Given the description of an element on the screen output the (x, y) to click on. 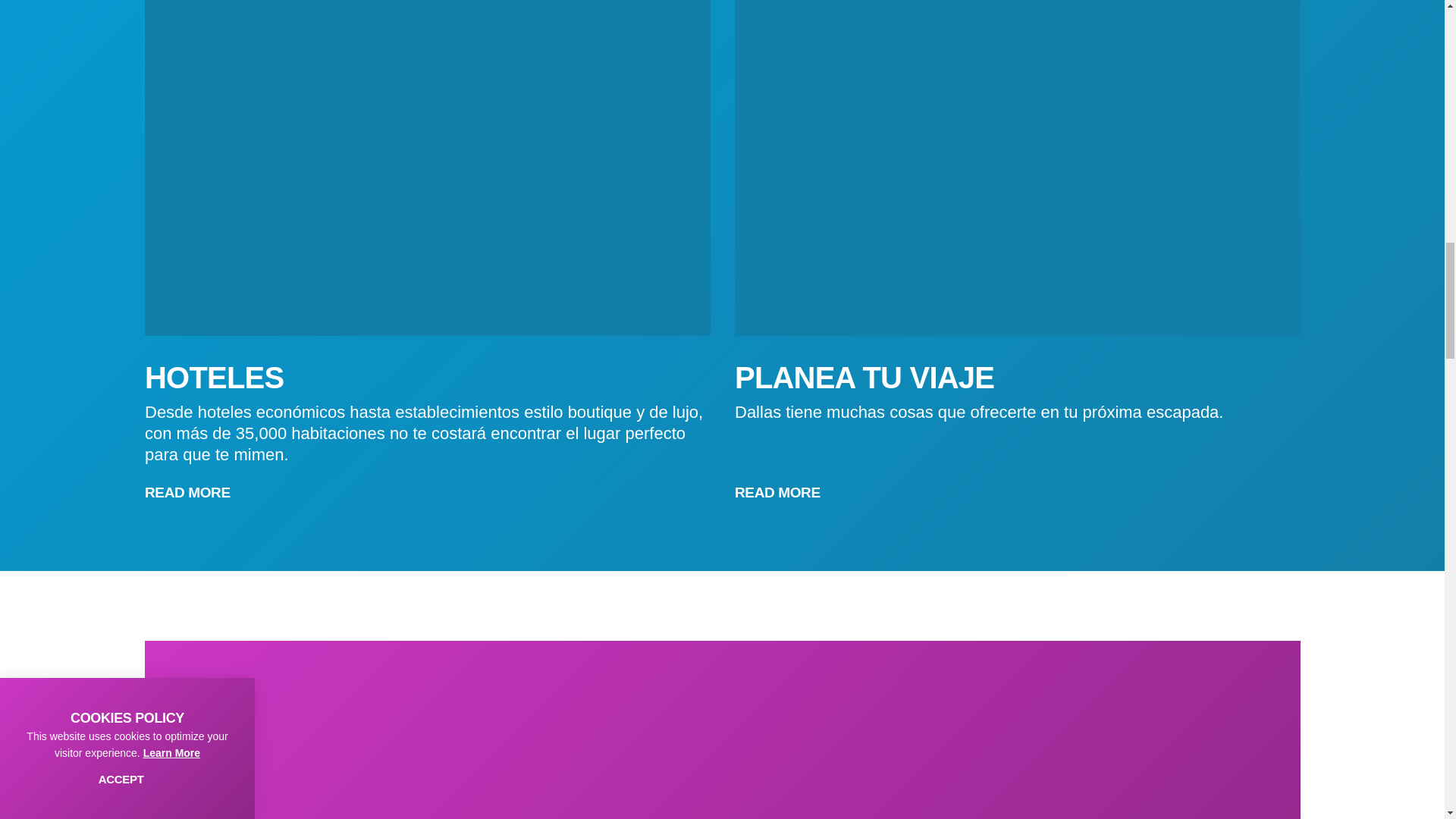
READ MORE (194, 493)
PLANEA TU VIAJE (862, 377)
HOTELES (213, 377)
